Given the description of an element on the screen output the (x, y) to click on. 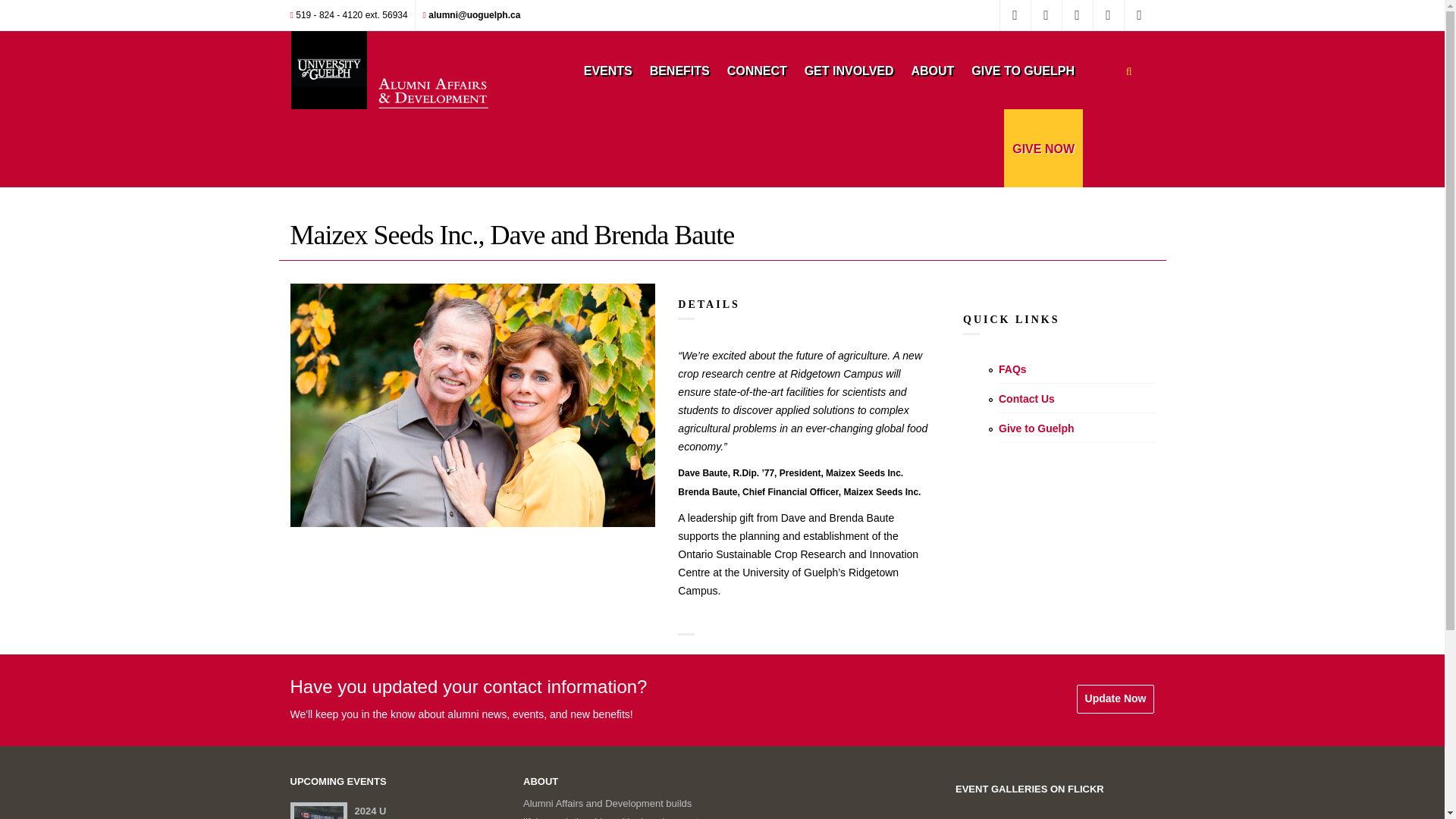
BENEFITS (679, 69)
GIVE TO GUELPH (1022, 69)
CONNECT (756, 69)
Dave and Brenda Baute (472, 405)
GET INVOLVED (849, 69)
